Given the description of an element on the screen output the (x, y) to click on. 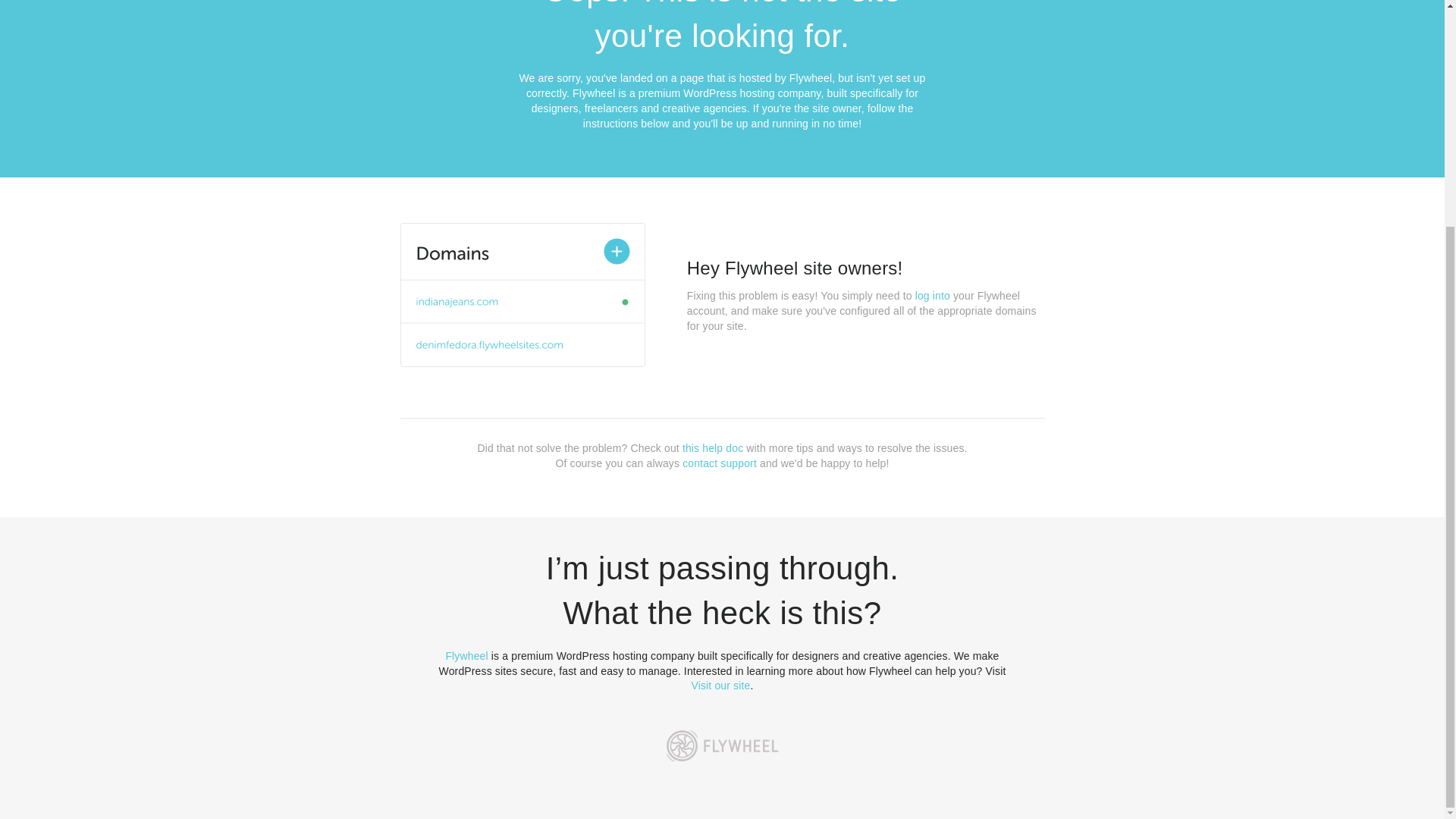
Visit our site (721, 685)
contact support (719, 463)
this help doc (712, 448)
Flywheel (466, 655)
log into (932, 295)
